Given the description of an element on the screen output the (x, y) to click on. 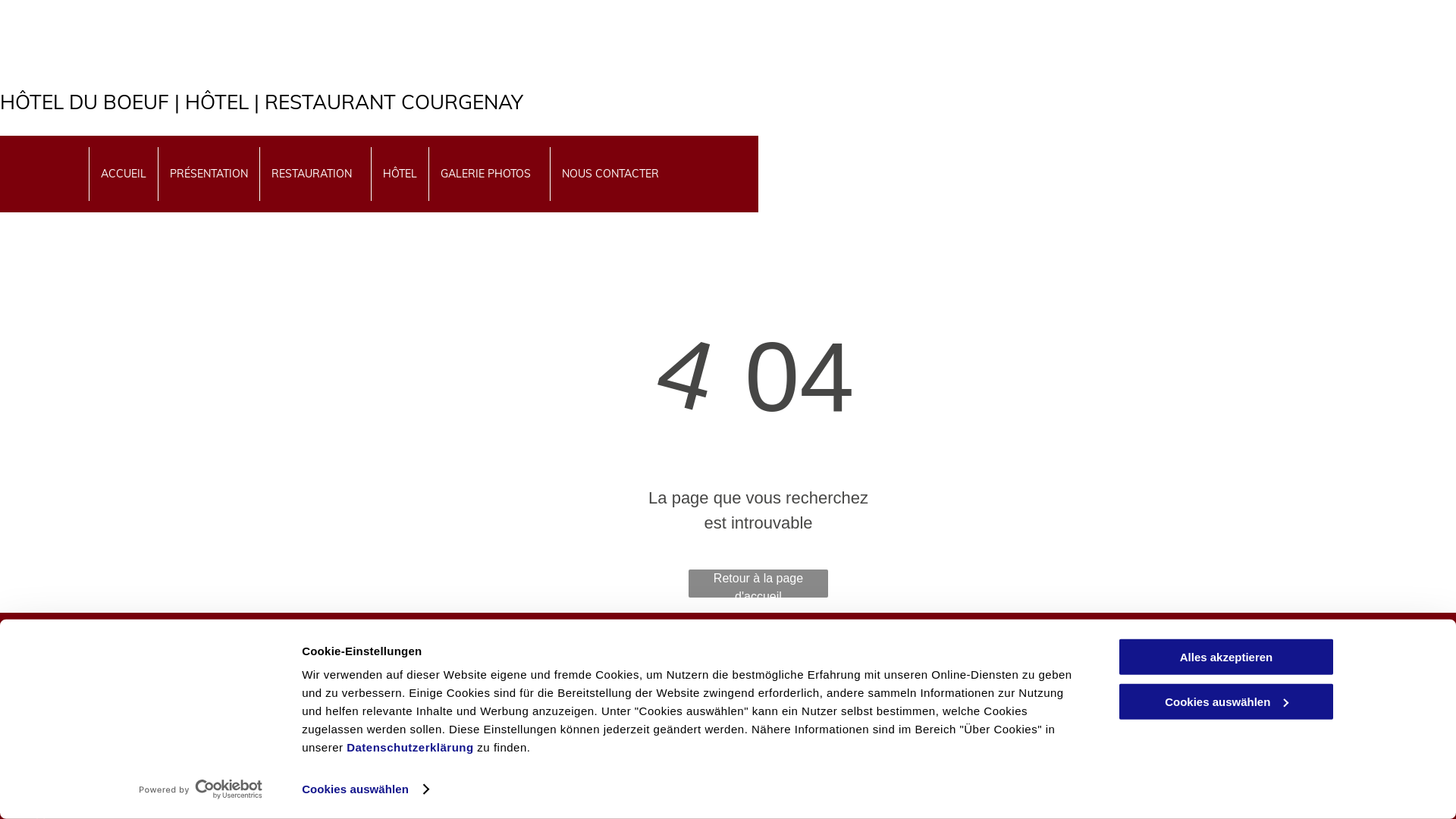
ACCUEIL Element type: text (121, 173)
RESTAURATION Element type: text (314, 173)
NOUS CONTACTER Element type: text (609, 173)
GALERIE PHOTOS Element type: text (488, 173)
Alles akzeptieren Element type: text (1225, 656)
fb:like Facebook Social Plugin Element type: hover (49, 680)
